Given the description of an element on the screen output the (x, y) to click on. 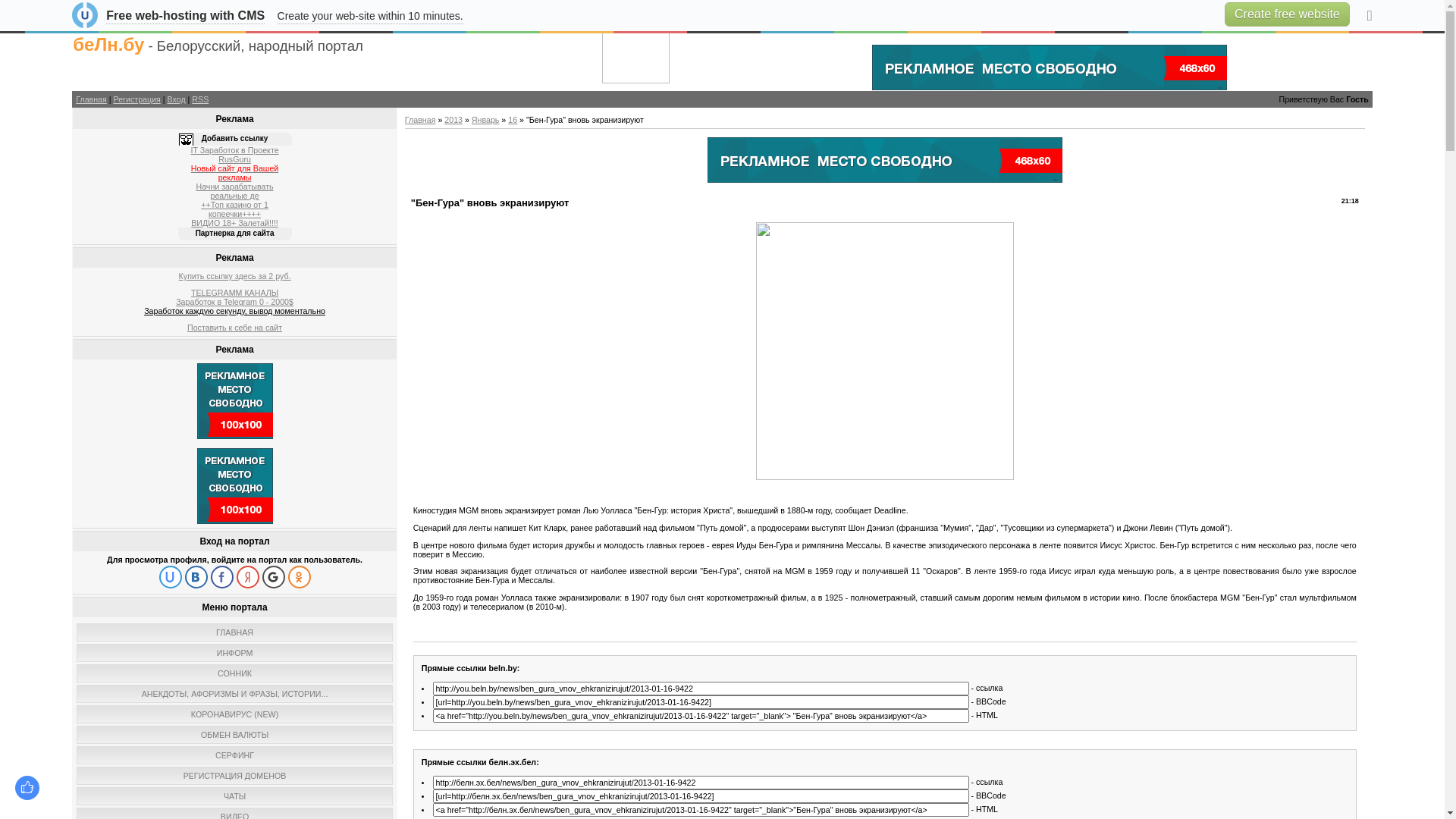
2013 Element type: text (453, 119)
RSS Element type: text (199, 98)
16 Element type: text (512, 119)
